Given the description of an element on the screen output the (x, y) to click on. 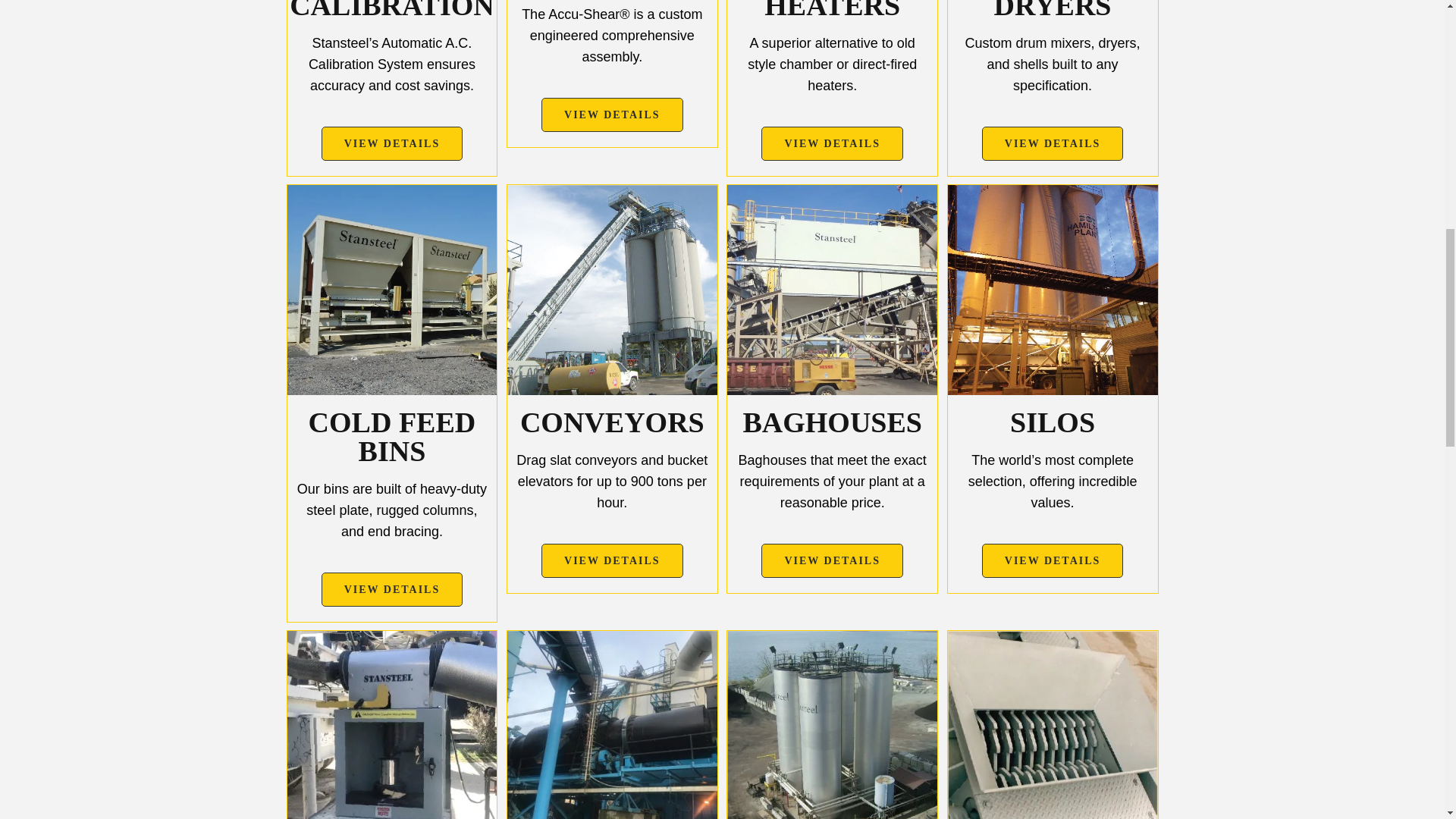
VIEW DETAILS (831, 560)
VIEW DETAILS (1052, 143)
VIEW DETAILS (611, 560)
VIEW DETAILS (611, 114)
VIEW DETAILS (392, 143)
VIEW DETAILS (831, 143)
VIEW DETAILS (392, 589)
